Given the description of an element on the screen output the (x, y) to click on. 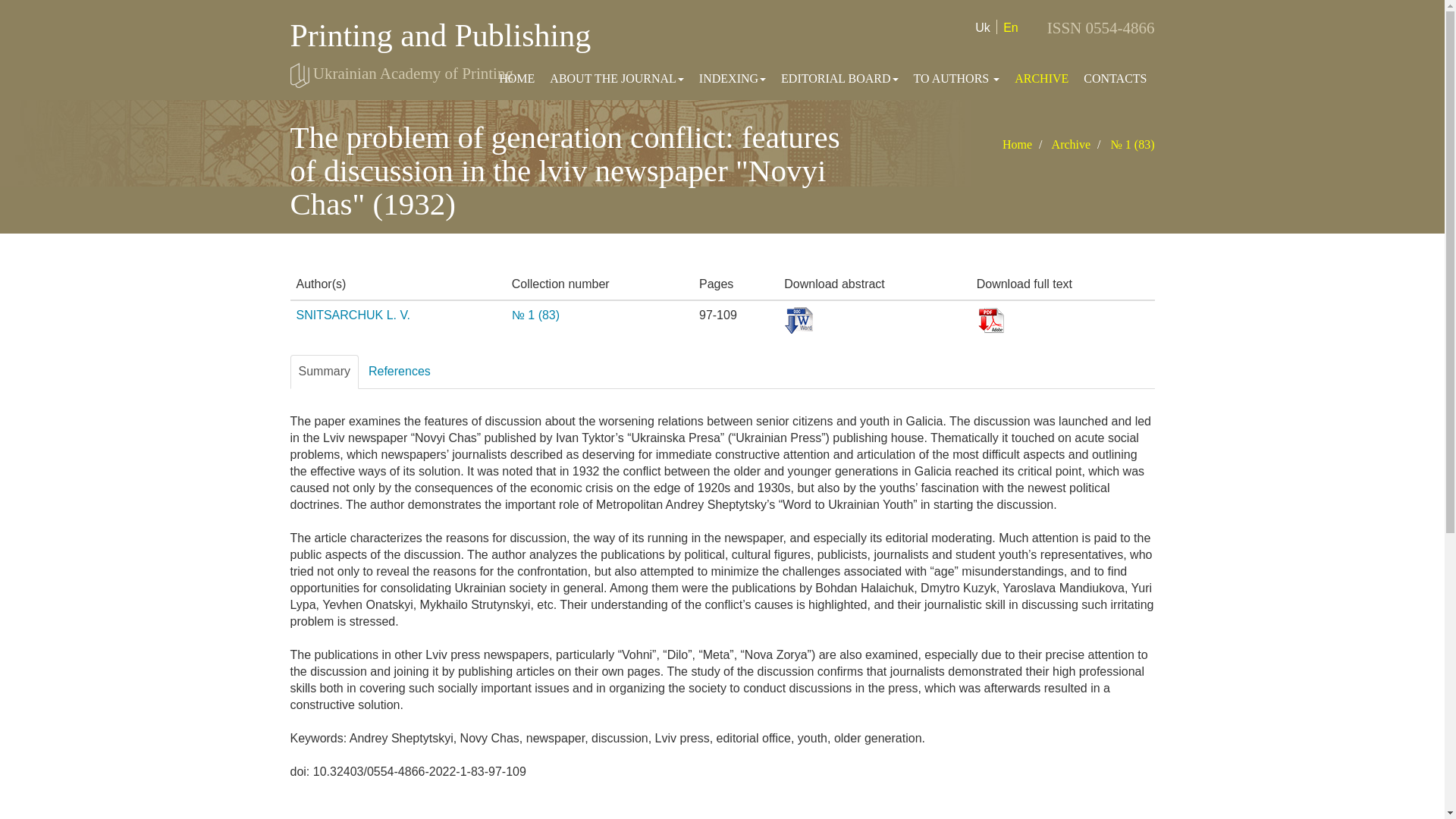
TO AUTHORS (956, 78)
EDITORIAL BOARD (839, 78)
Printing and Publishing (440, 35)
Uk (982, 27)
HOME (516, 78)
Ukrainian Academy of Printing (413, 73)
ABOUT THE JOURNAL (616, 78)
INDEXING (732, 78)
En (1010, 27)
